Given the description of an element on the screen output the (x, y) to click on. 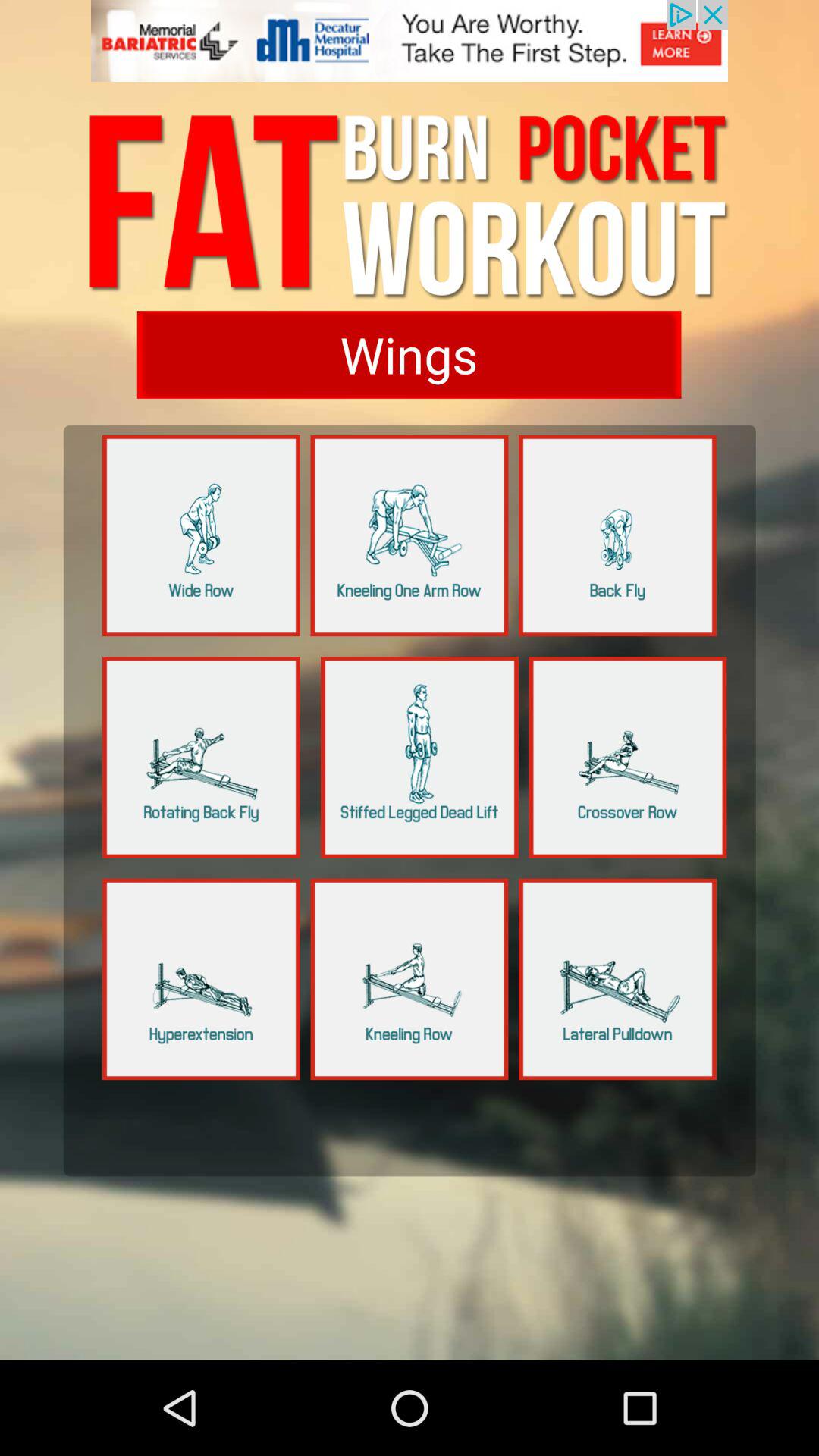
choose hypertension exercise (201, 979)
